Given the description of an element on the screen output the (x, y) to click on. 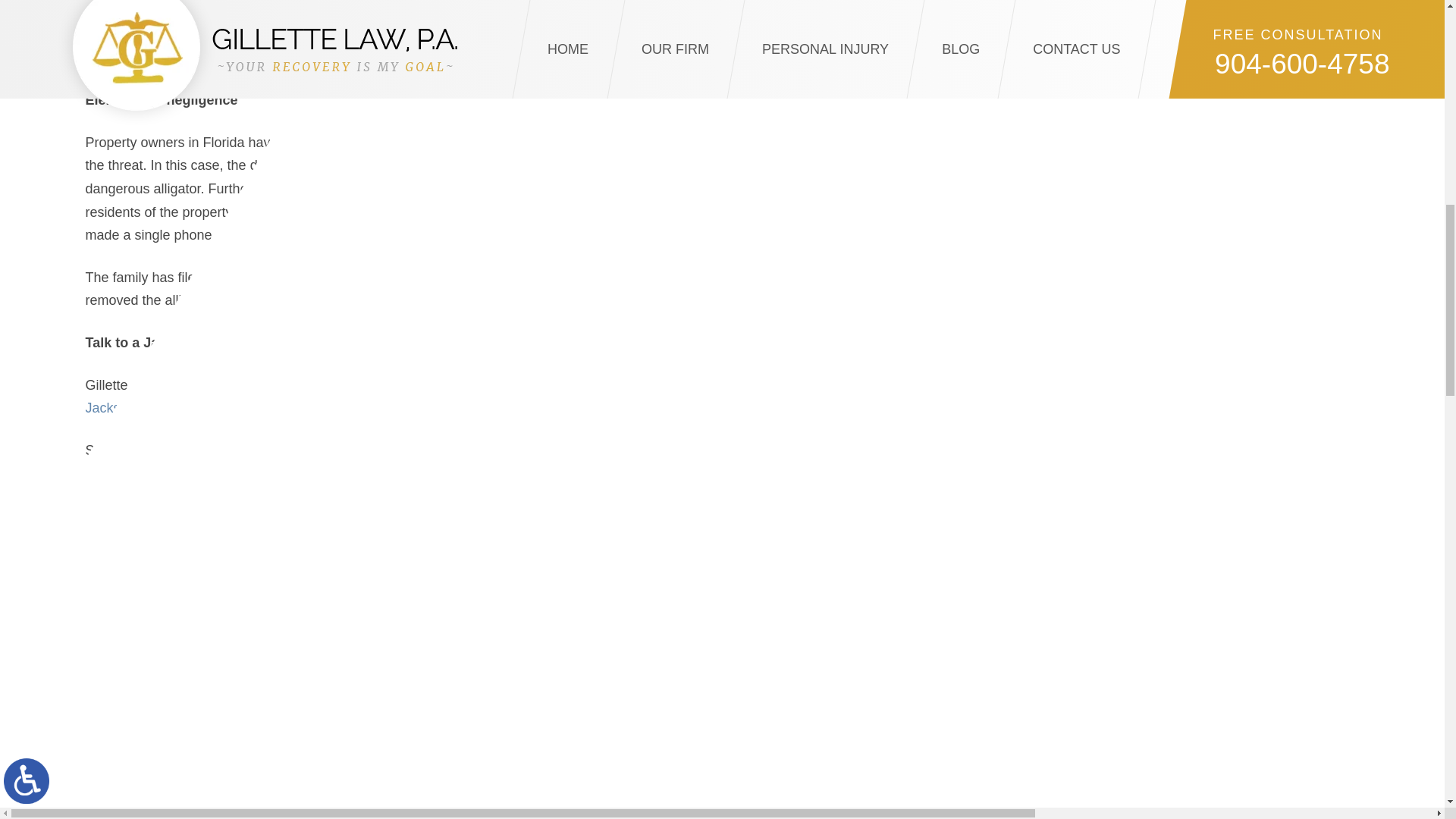
2024-03-05T07:27:40-0800 (302, 560)
LinkedIn (111, 529)
Facebook (90, 529)
Twitter (101, 529)
